Given the description of an element on the screen output the (x, y) to click on. 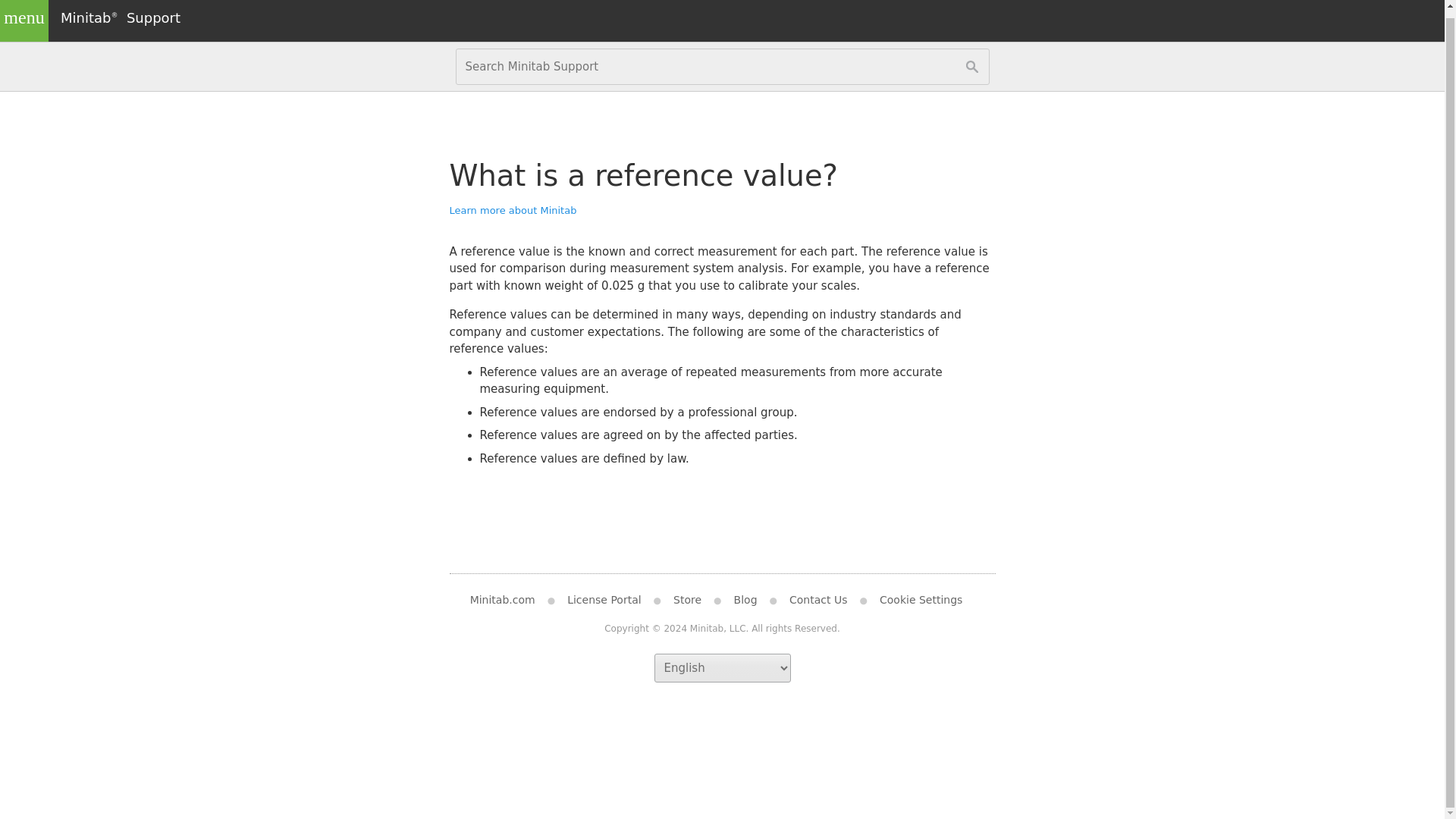
License Portal (603, 599)
Contact Us (818, 599)
Store (687, 599)
Minitab.com (508, 599)
Blog (746, 599)
Learn more about Minitab (512, 210)
Cookie Settings (920, 599)
